Given the description of an element on the screen output the (x, y) to click on. 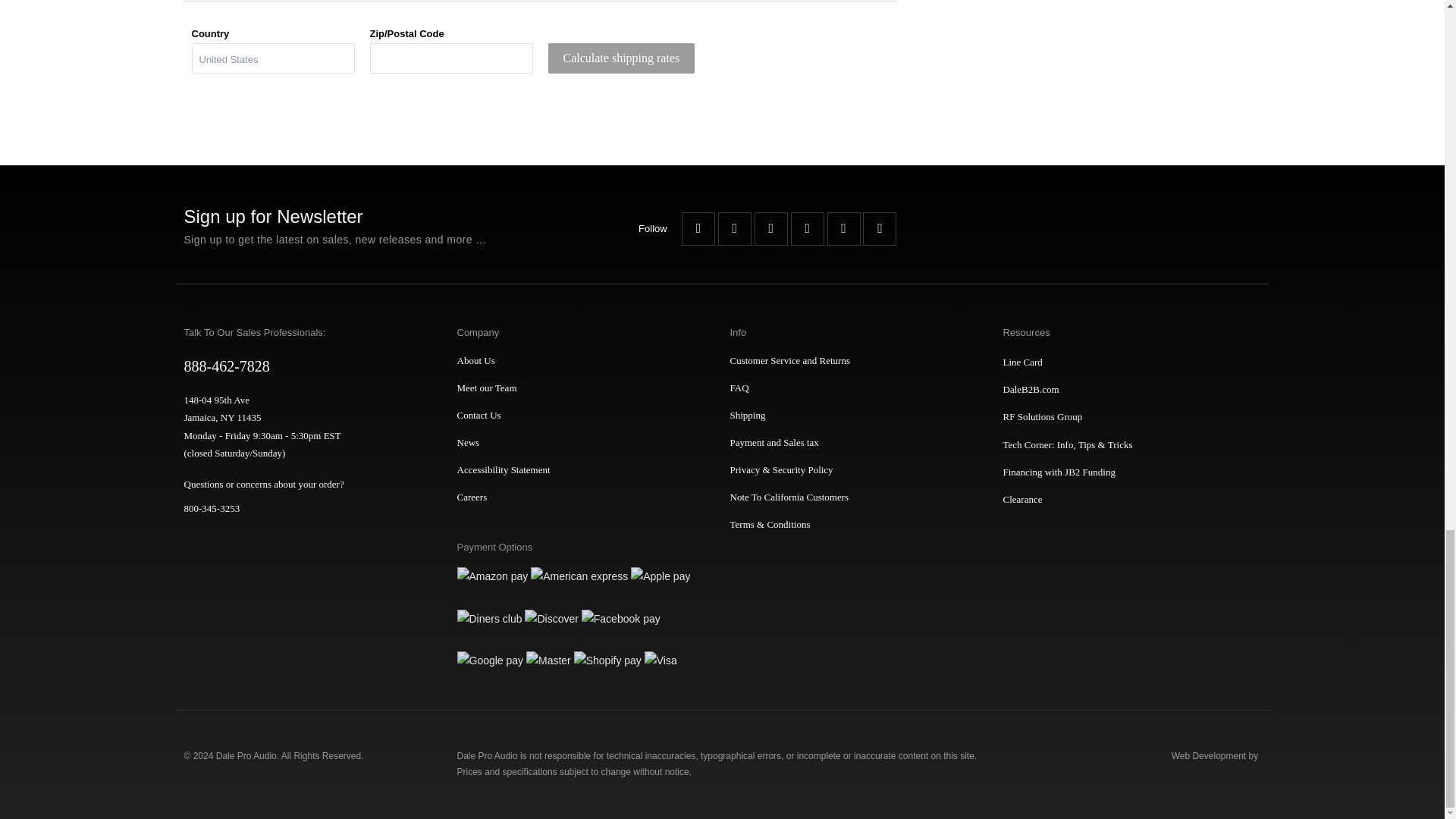
Dale Pro Audio on Facebook (697, 228)
Dale Pro Audio on YouTube (770, 228)
Dale Pro Audio on Pinterest (807, 228)
Calculate shipping rates (620, 58)
Dale Pro Audio on LinkedIn (879, 228)
Dale Pro Audio on Twitter (734, 228)
Dale Pro Audio on Instagram (843, 228)
tel:800-345-3253 (304, 508)
